Given the description of an element on the screen output the (x, y) to click on. 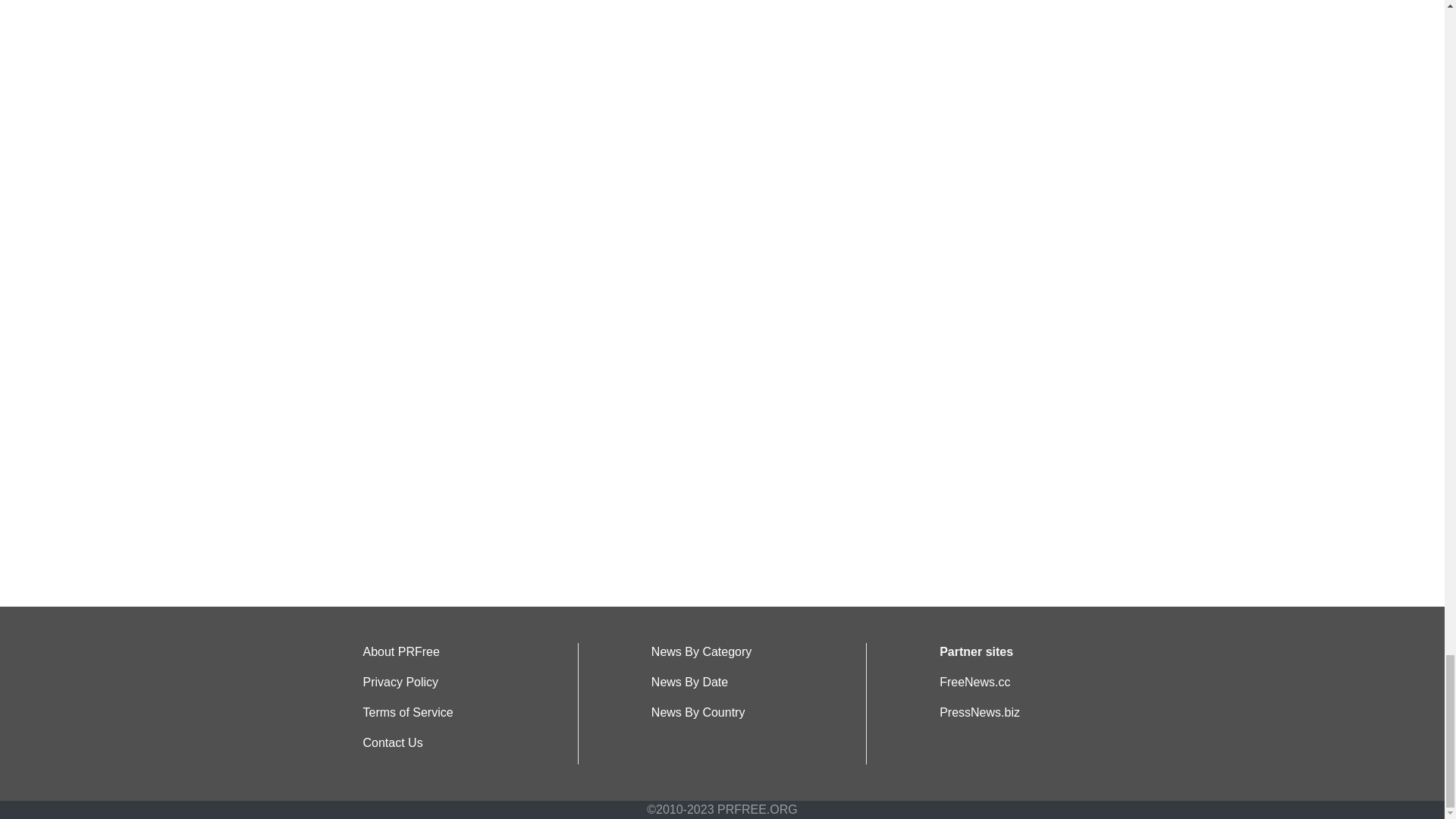
Terms of Service (407, 712)
About PRFree (400, 651)
Privacy Policy (400, 681)
